Given the description of an element on the screen output the (x, y) to click on. 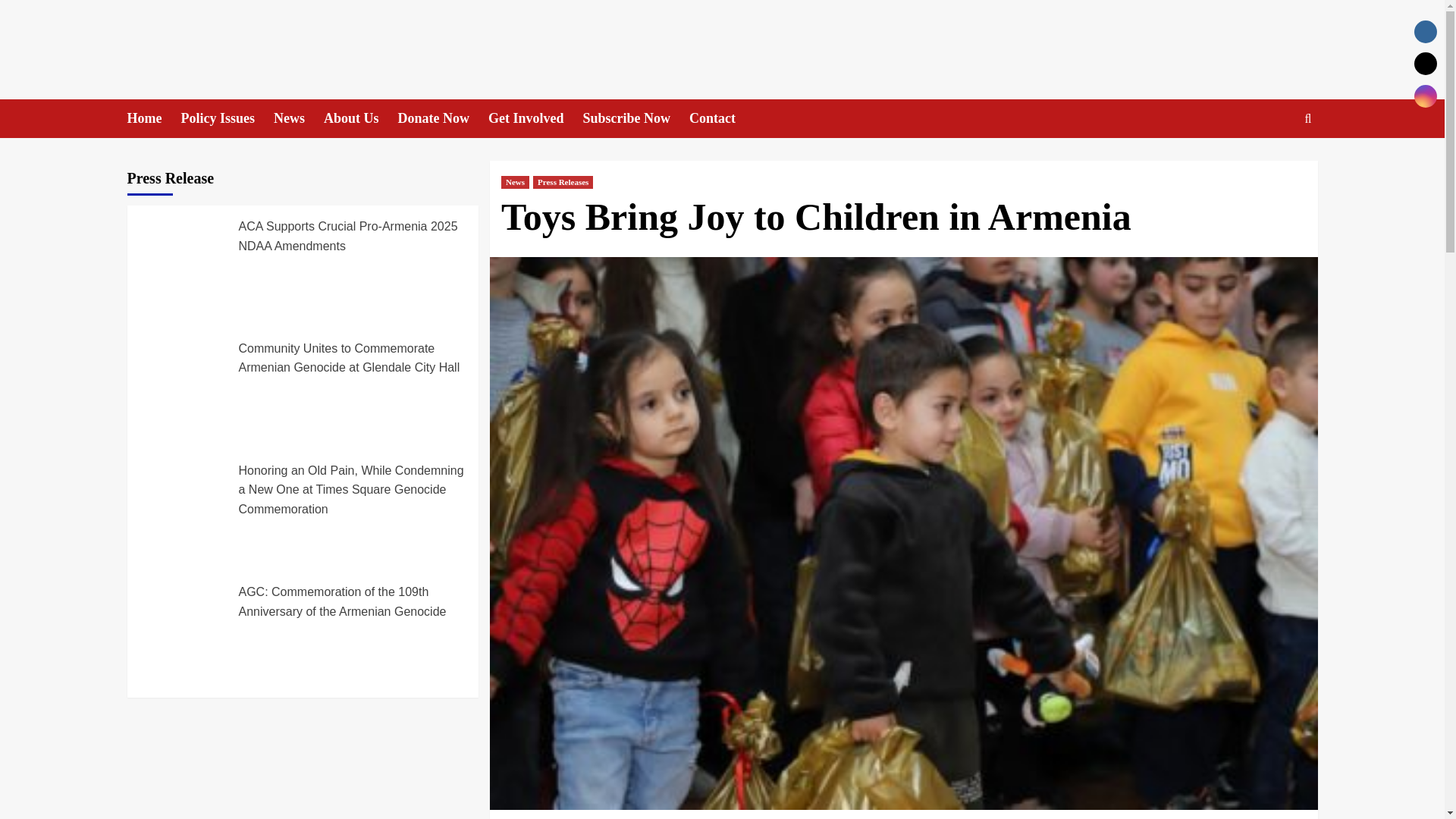
Search (1272, 165)
About Us (360, 118)
Policy Issues (226, 118)
Donate Now (443, 118)
News (298, 118)
Home (154, 118)
Get Involved (535, 118)
News (514, 182)
Subscribe Now (636, 118)
Contact (721, 118)
Press Releases (562, 182)
